Given the description of an element on the screen output the (x, y) to click on. 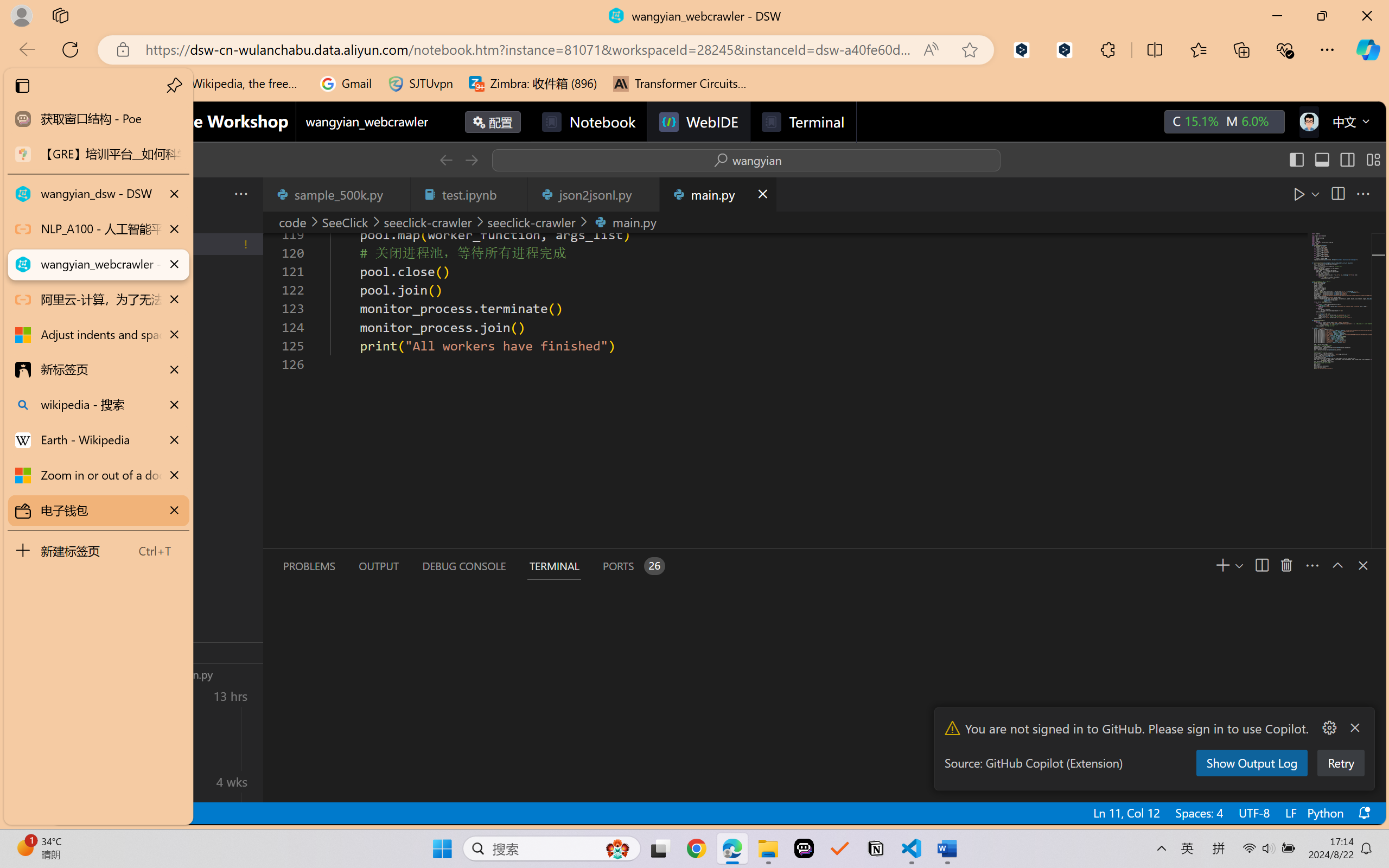
Explorer (Ctrl+Shift+E) (73, 234)
Split Terminal (Ctrl+Shift+5) (1261, 565)
Manage (73, 755)
Gmail (345, 83)
Debug Console (Ctrl+Shift+Y) (463, 565)
test.ipynb (468, 194)
Timeline Section (179, 673)
remote (66, 812)
Toggle Primary Side Bar (Ctrl+B) (1295, 159)
